Given the description of an element on the screen output the (x, y) to click on. 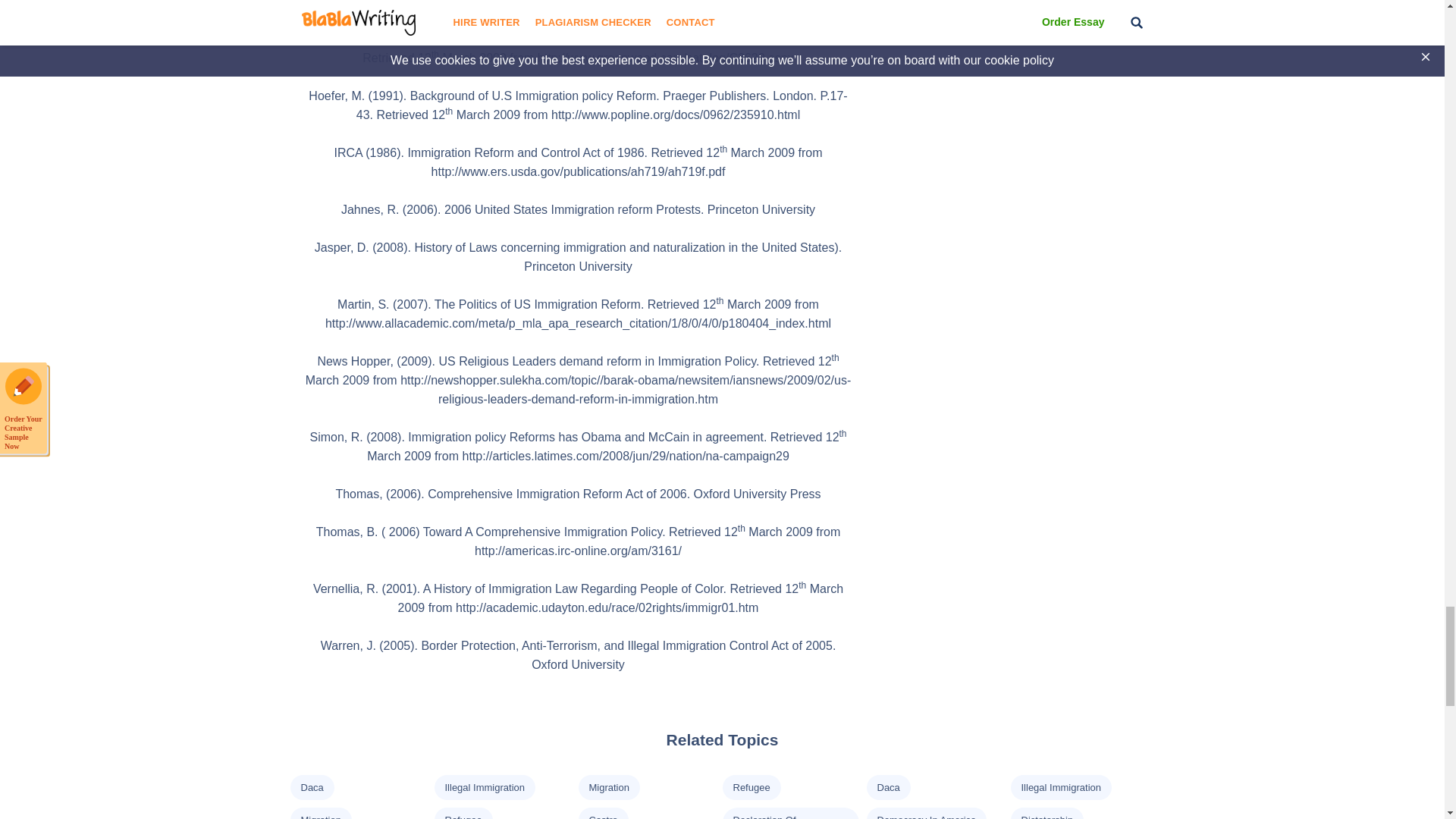
Migration (608, 787)
Illegal Immigration (484, 787)
Refugee (751, 787)
Daca (887, 787)
Daca (311, 787)
